Given the description of an element on the screen output the (x, y) to click on. 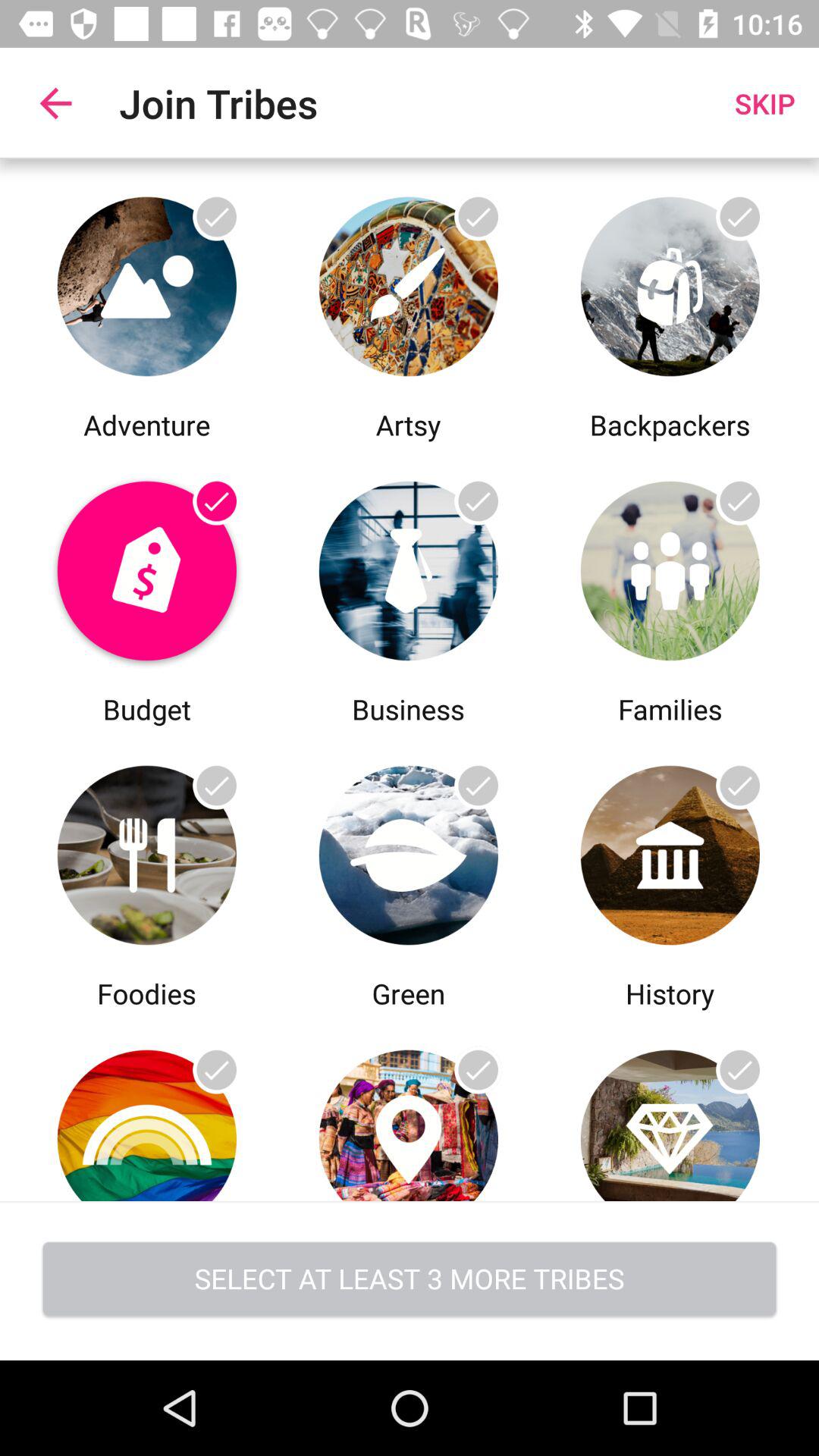
click on the artsy option (408, 282)
